Given the description of an element on the screen output the (x, y) to click on. 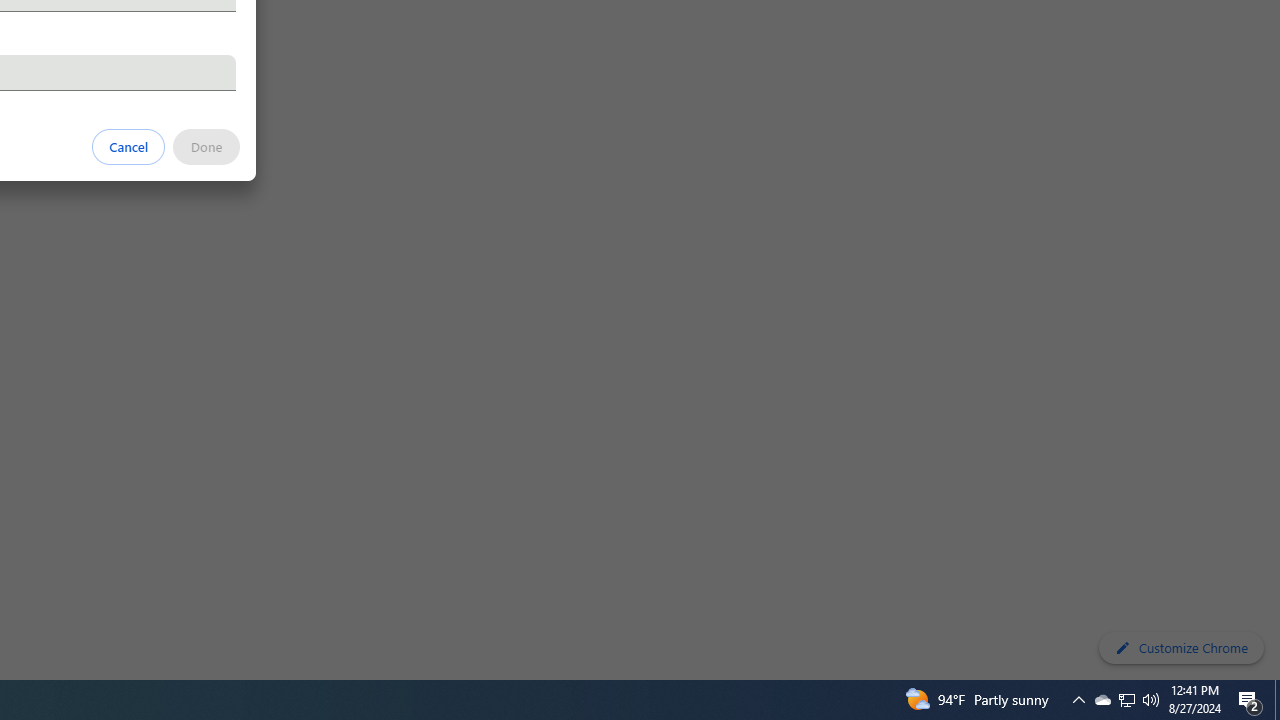
Done (206, 146)
Cancel (129, 146)
